Given the description of an element on the screen output the (x, y) to click on. 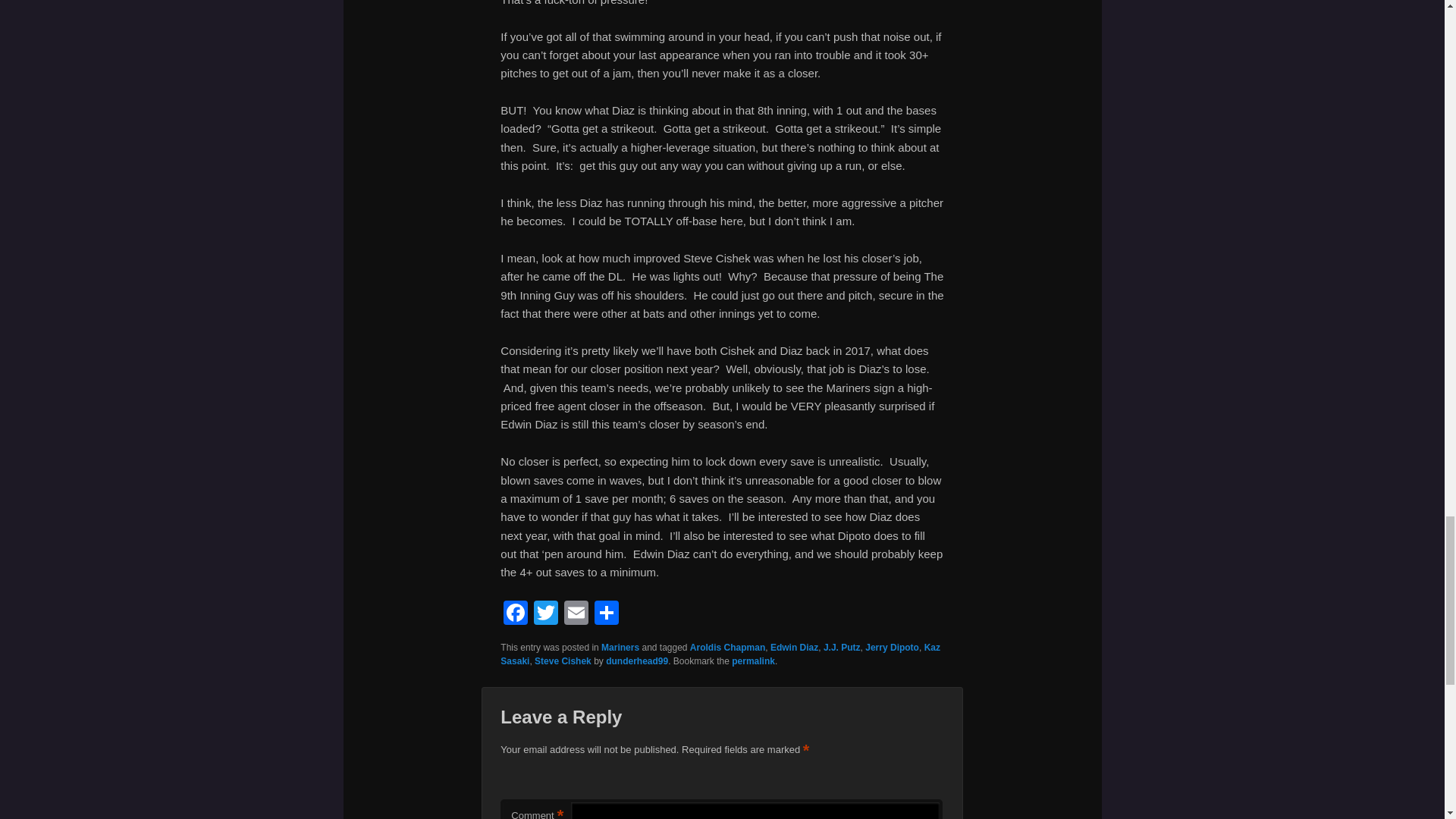
Permalink to Is Edwin Diaz The Closer Of The Future? (753, 661)
Twitter (545, 614)
Facebook (515, 614)
Email (575, 614)
